Given the description of an element on the screen output the (x, y) to click on. 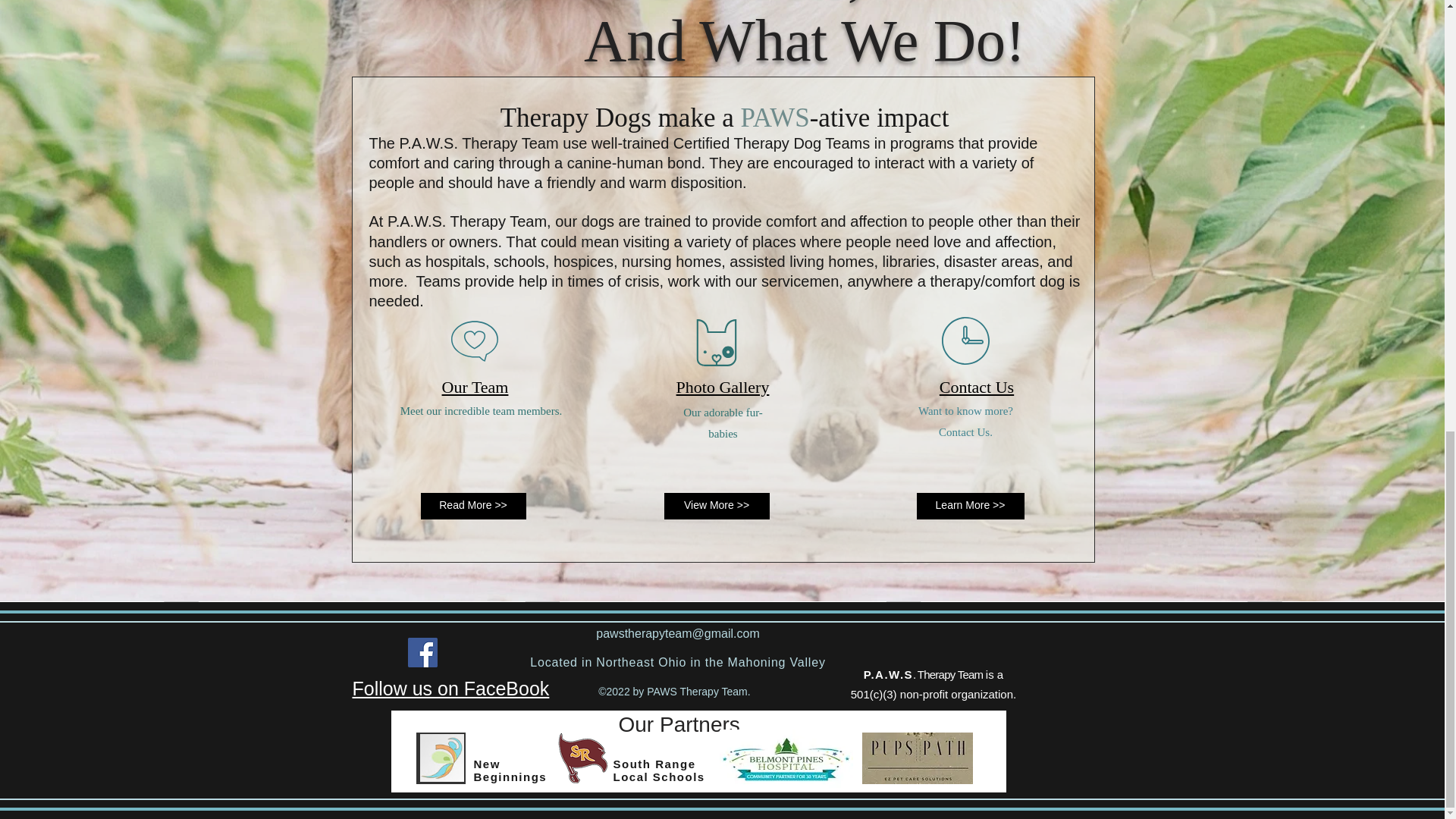
Photo Gallery (723, 382)
Follow us on FaceBook (450, 688)
Contact Us (976, 381)
Our Team (475, 382)
